Given the description of an element on the screen output the (x, y) to click on. 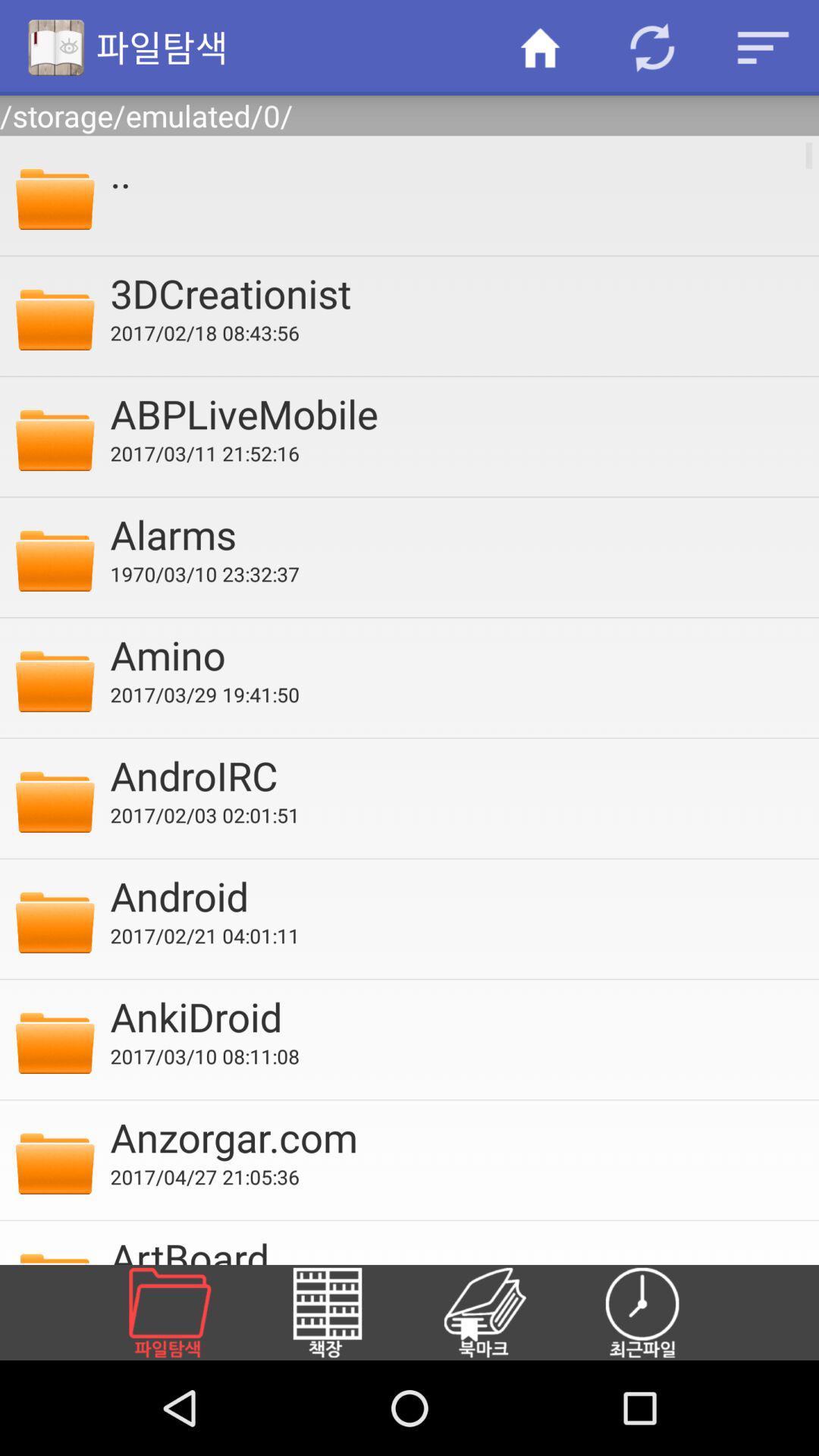
press the item at the bottom right corner (660, 1312)
